Given the description of an element on the screen output the (x, y) to click on. 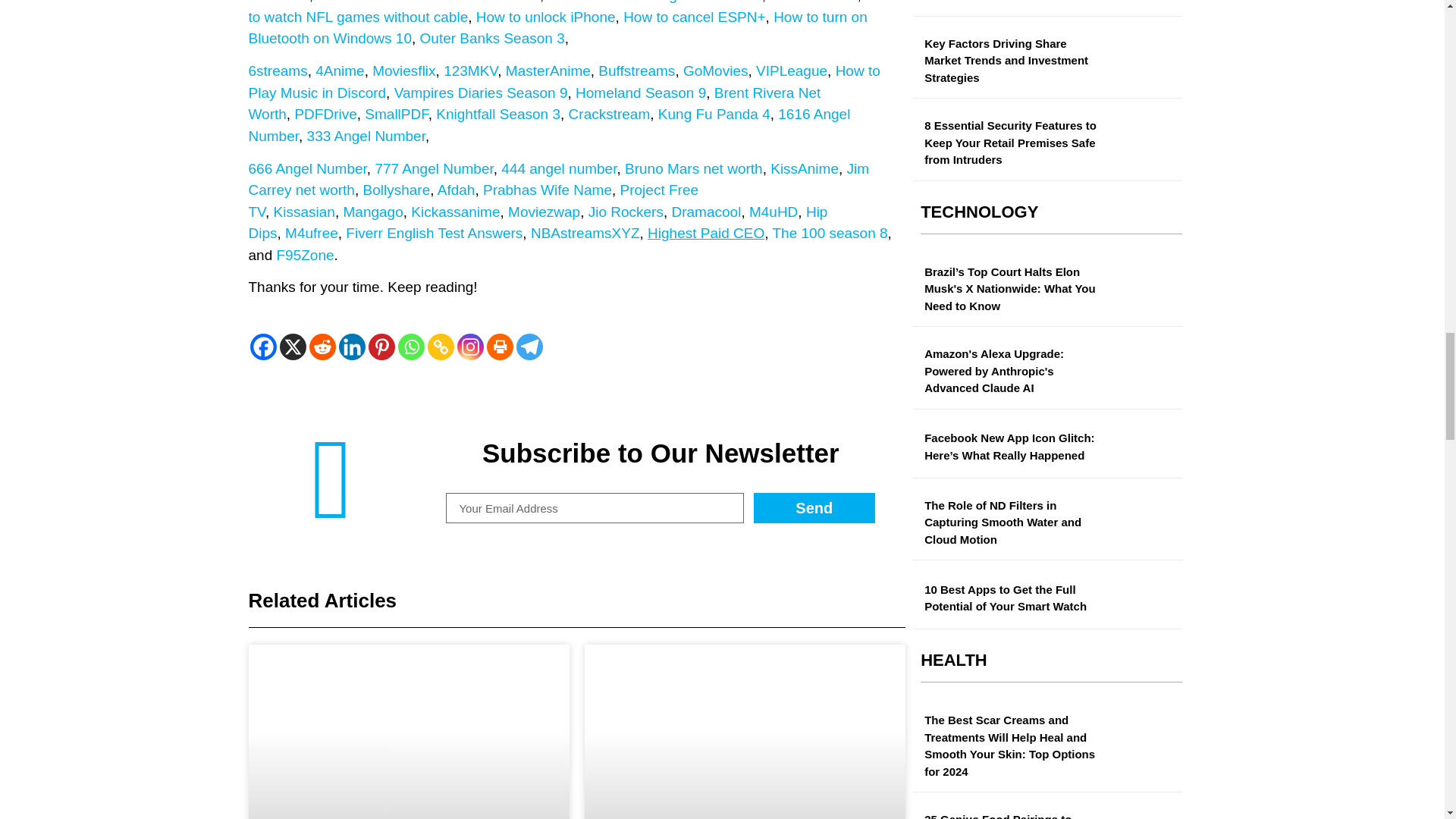
Whatsapp (410, 346)
Facebook (263, 346)
Reddit (322, 346)
Instagram (470, 346)
X (292, 346)
Linkedin (351, 346)
Copy Link (441, 346)
Pinterest (381, 346)
